Given the description of an element on the screen output the (x, y) to click on. 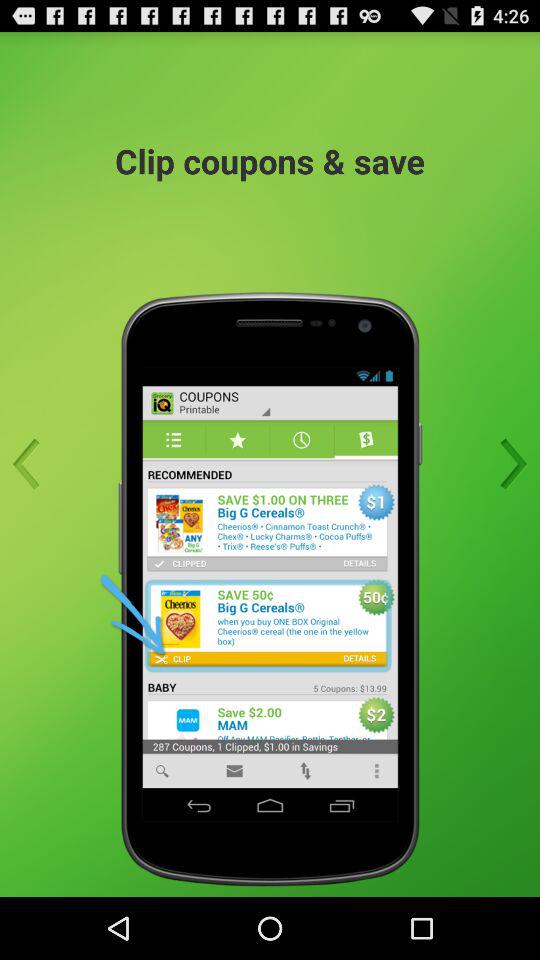
before (32, 464)
